Given the description of an element on the screen output the (x, y) to click on. 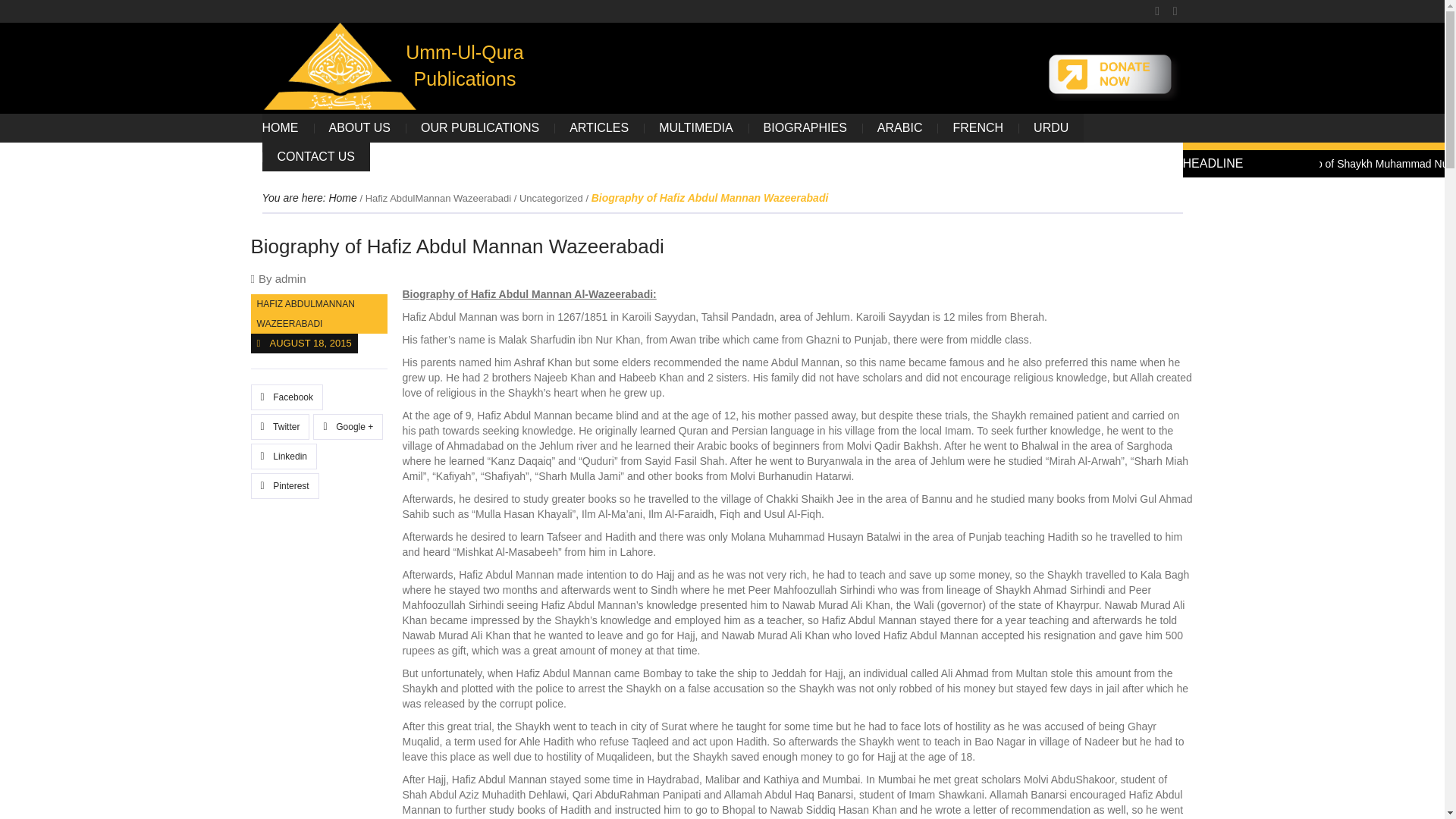
OUR PUBLICATIONS (480, 127)
BIOGRAPHIES (804, 127)
HOME (288, 127)
Umm-Ul-Qura Publications (339, 65)
Twitter (279, 426)
ARABIC (899, 127)
MULTIMEDIA (695, 127)
Linkedin (283, 456)
Facebook (286, 397)
ABOUT US (360, 127)
